Given the description of an element on the screen output the (x, y) to click on. 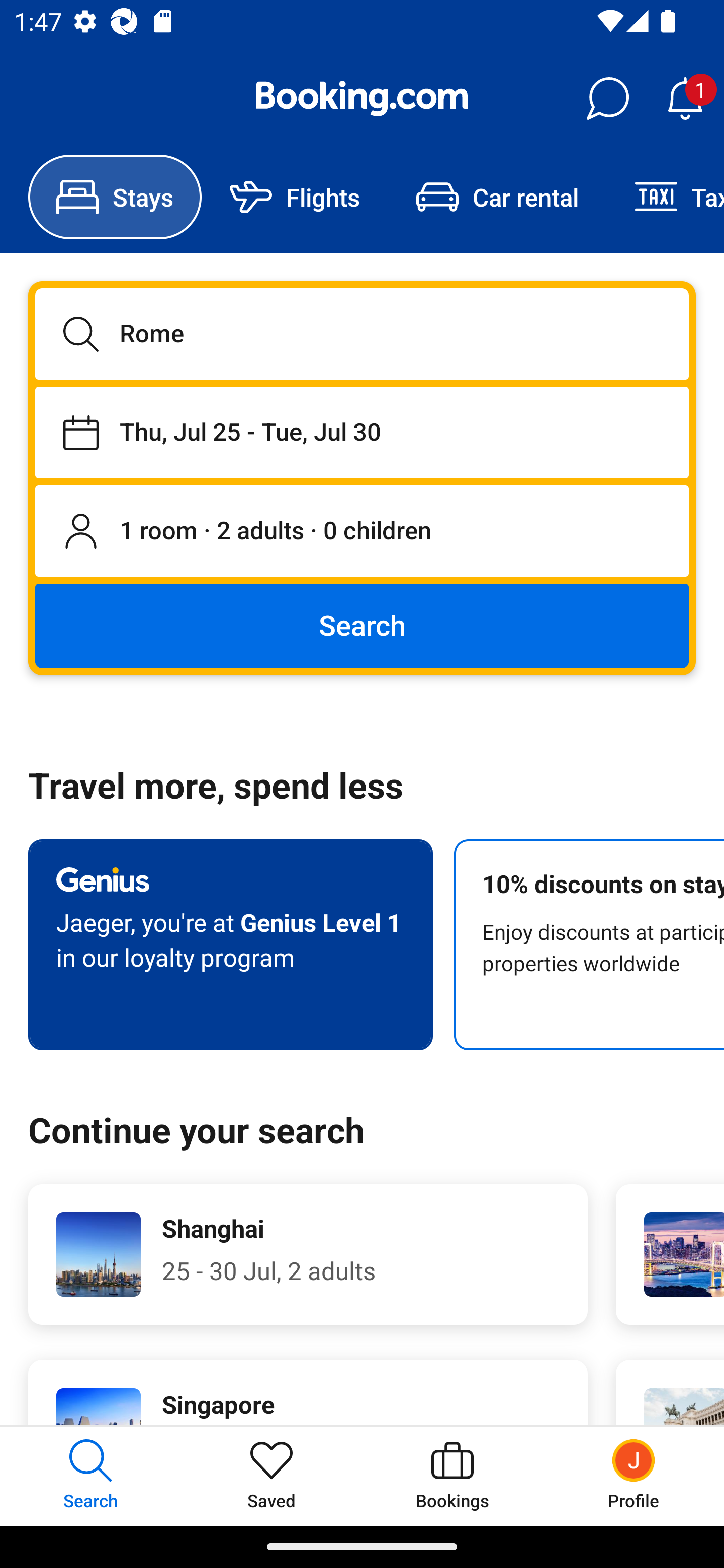
Messages (607, 98)
Notifications (685, 98)
Stays (114, 197)
Flights (294, 197)
Car rental (497, 197)
Taxi (665, 197)
Rome (361, 333)
Staying from Thu, Jul 25 until Tue, Jul 30 (361, 432)
1 room, 2 adults, 0 children (361, 531)
Search (361, 625)
Shanghai 25 - 30 Jul, 2 adults (307, 1253)
Saved (271, 1475)
Bookings (452, 1475)
Profile (633, 1475)
